Given the description of an element on the screen output the (x, y) to click on. 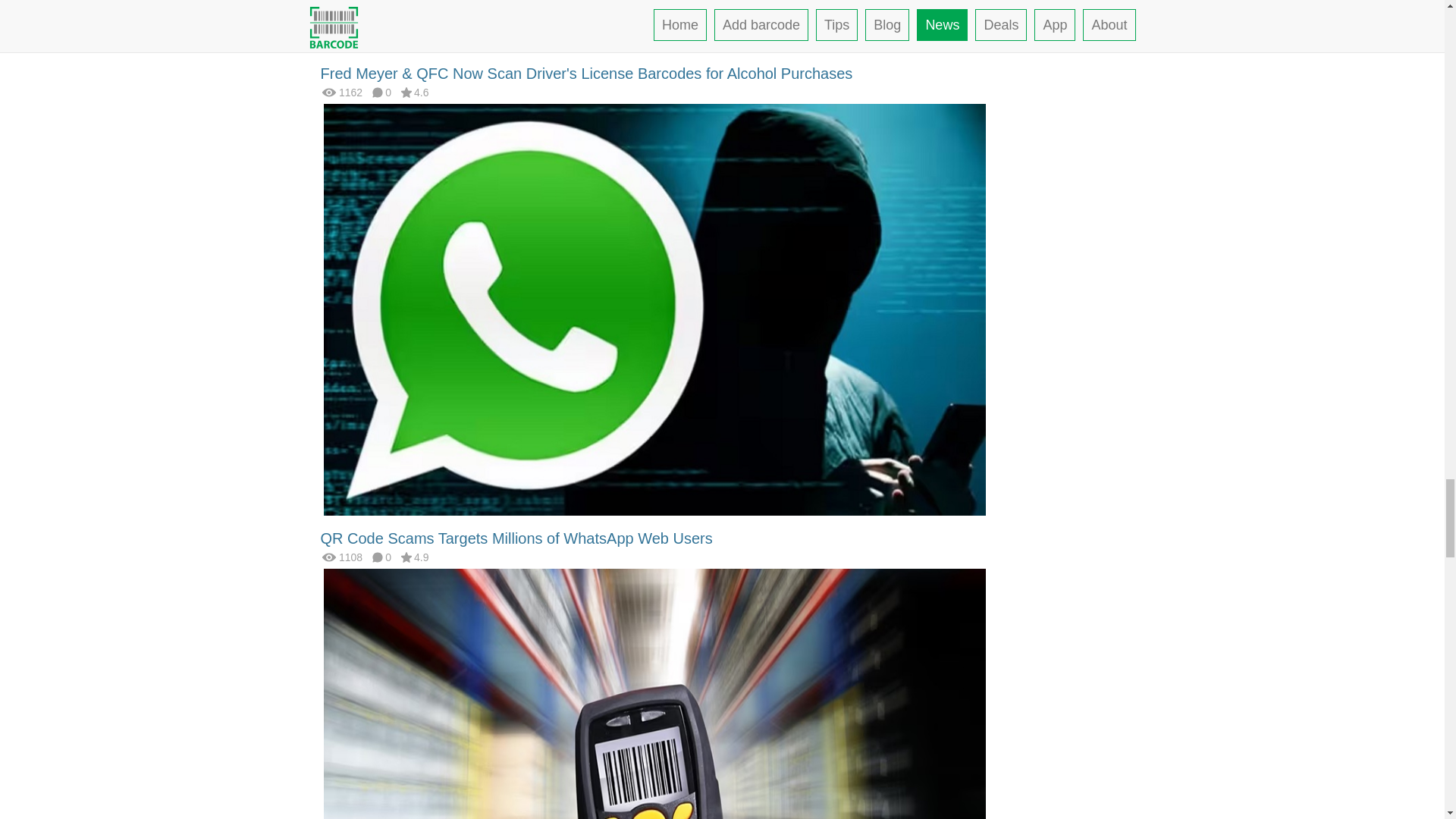
QR Code Scams Targets Millions of WhatsApp Web Users (654, 308)
QR Code Scams Targets Millions of WhatsApp Web Users (515, 538)
